Given the description of an element on the screen output the (x, y) to click on. 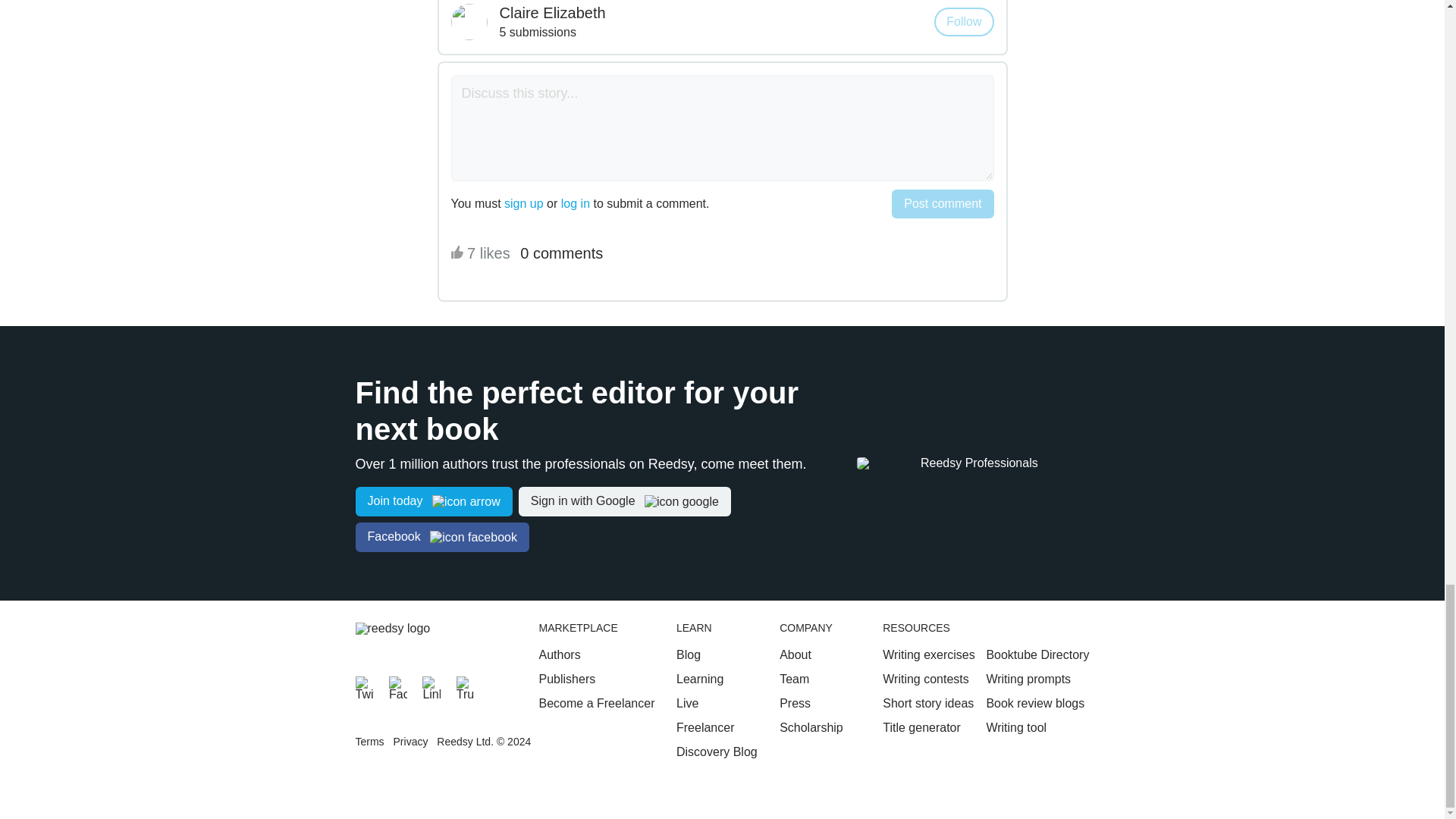
Sign in with Google (624, 501)
LinkedIn (431, 685)
Sign in with Facebook (441, 537)
Post comment (941, 203)
Sign up (433, 501)
Twitter (363, 685)
Trustpilot (465, 685)
Facebook (397, 685)
